Given the description of an element on the screen output the (x, y) to click on. 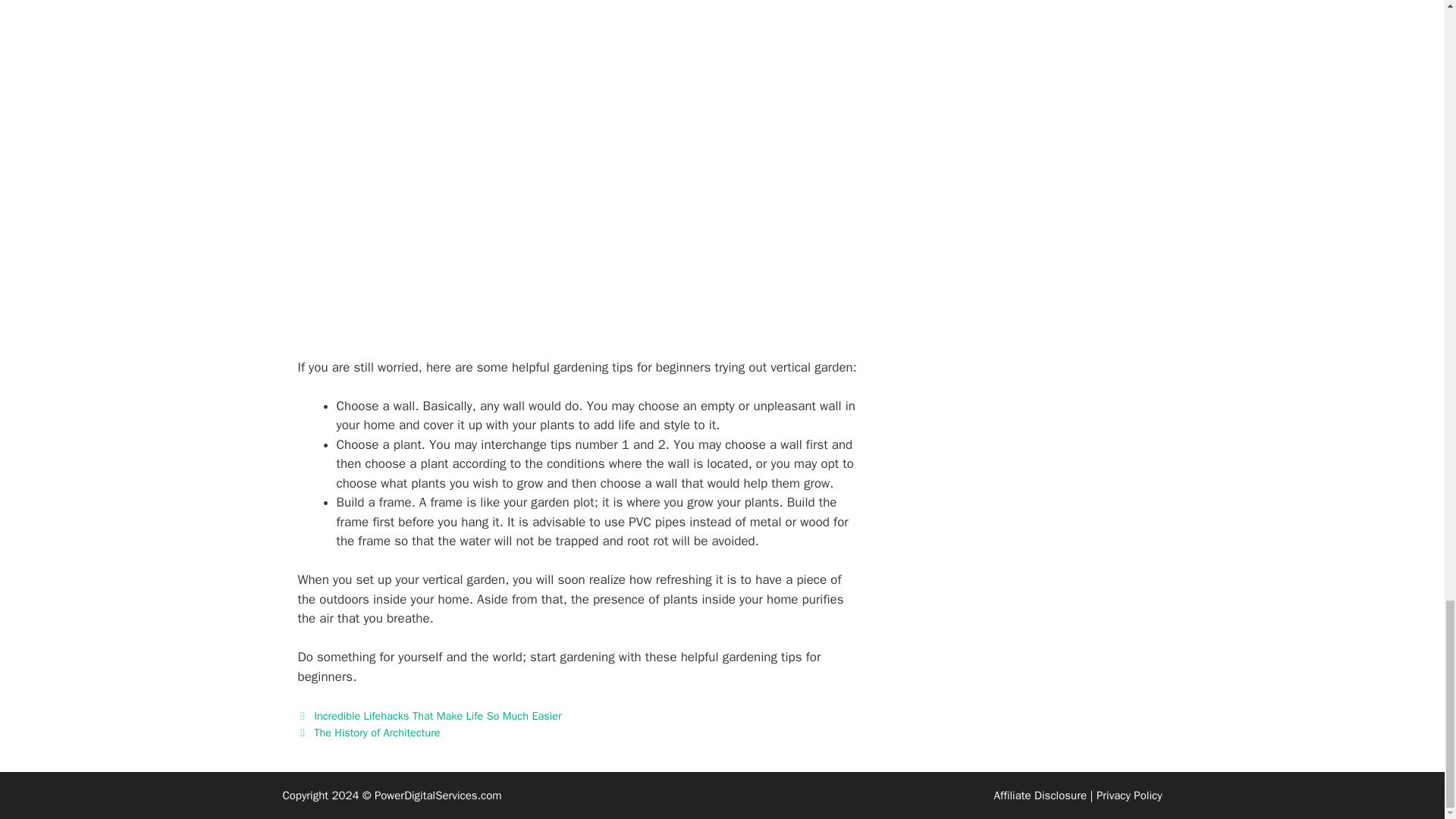
Privacy Policy (1128, 795)
Incredible Lifehacks That Make Life So Much Easier (437, 715)
The History of Architecture (376, 732)
Affiliate Disclosure (1039, 795)
